Given the description of an element on the screen output the (x, y) to click on. 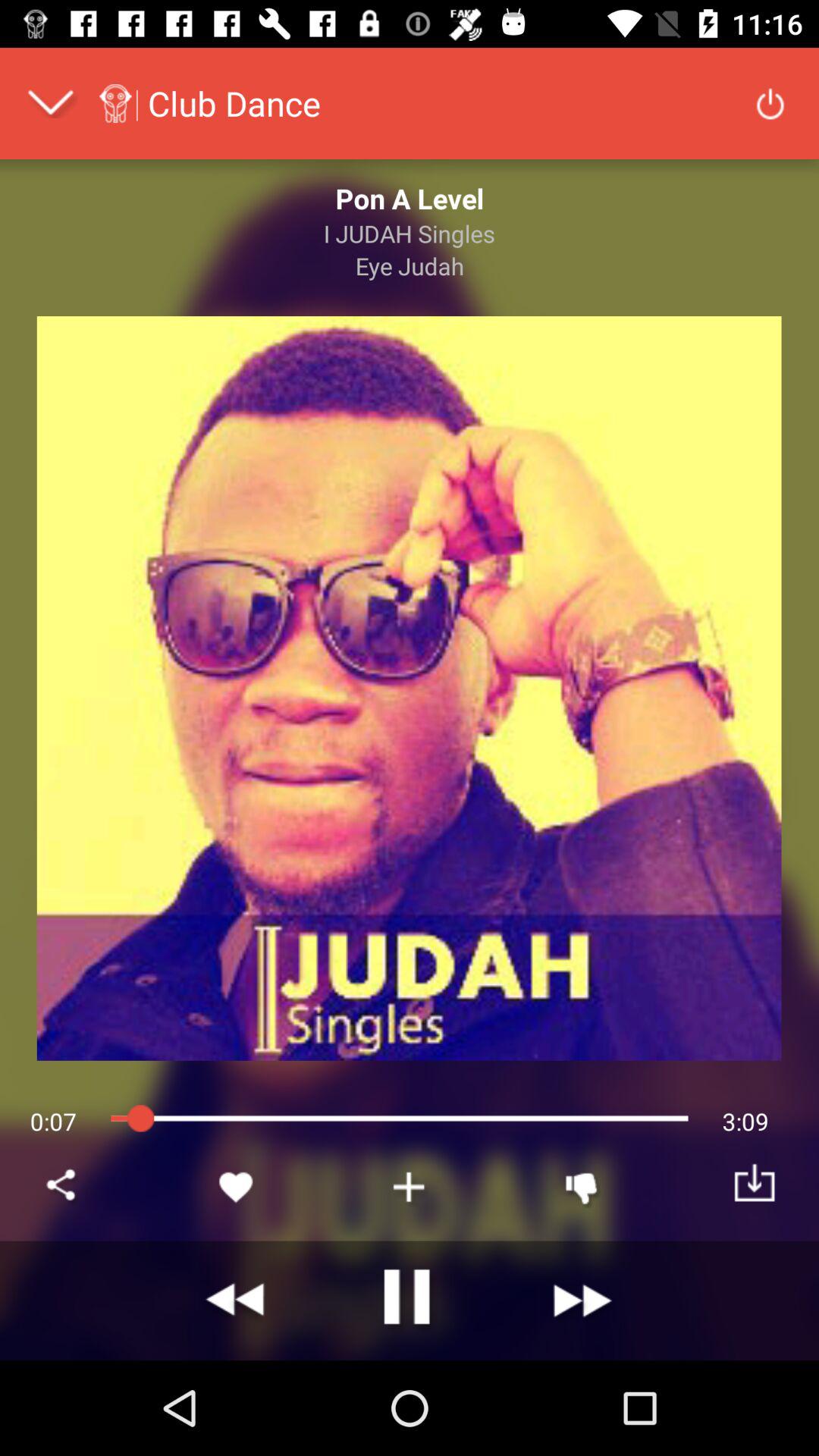
pause the song (409, 1300)
